Given the description of an element on the screen output the (x, y) to click on. 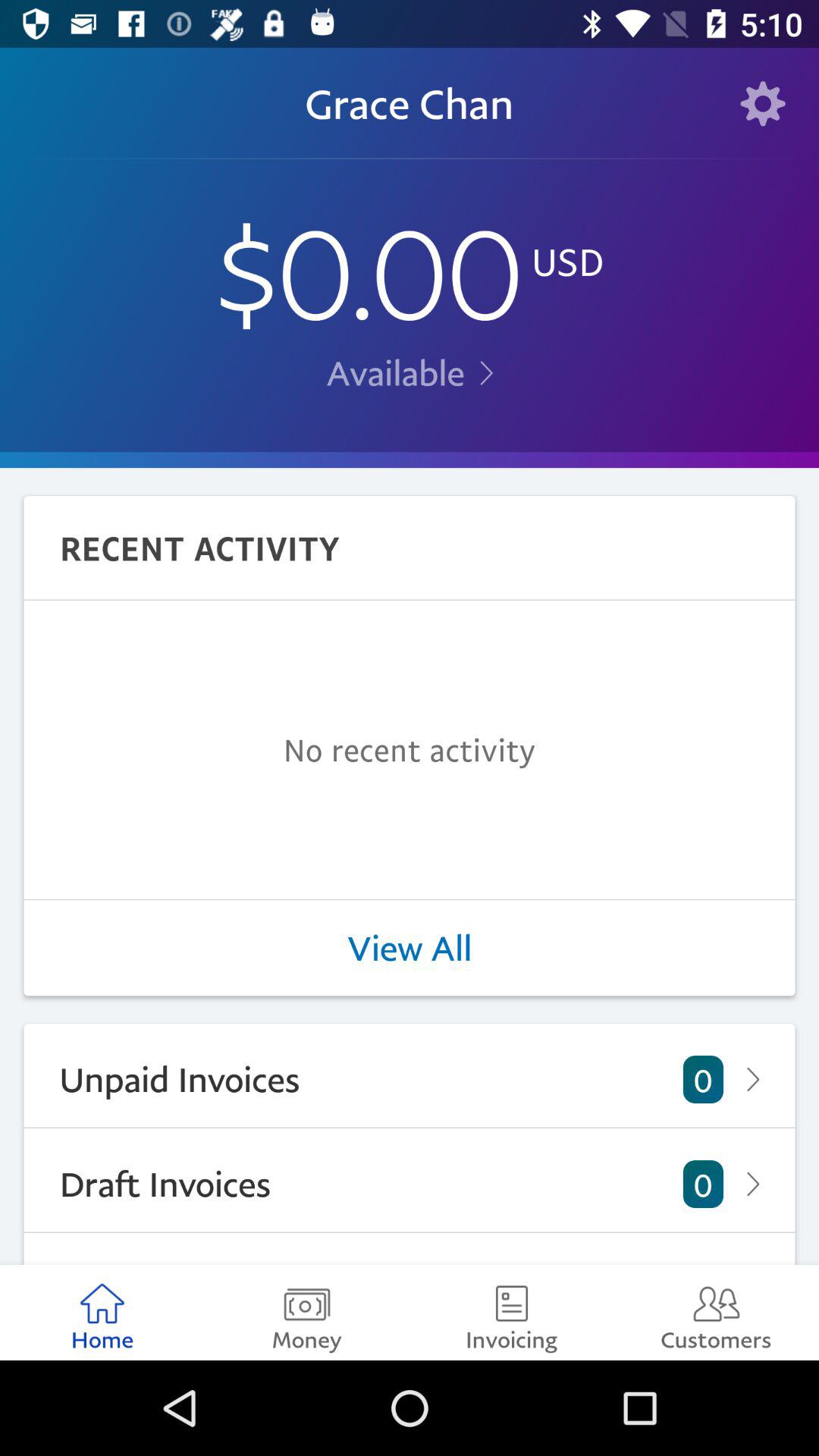
select item next to grace chan (763, 103)
